Given the description of an element on the screen output the (x, y) to click on. 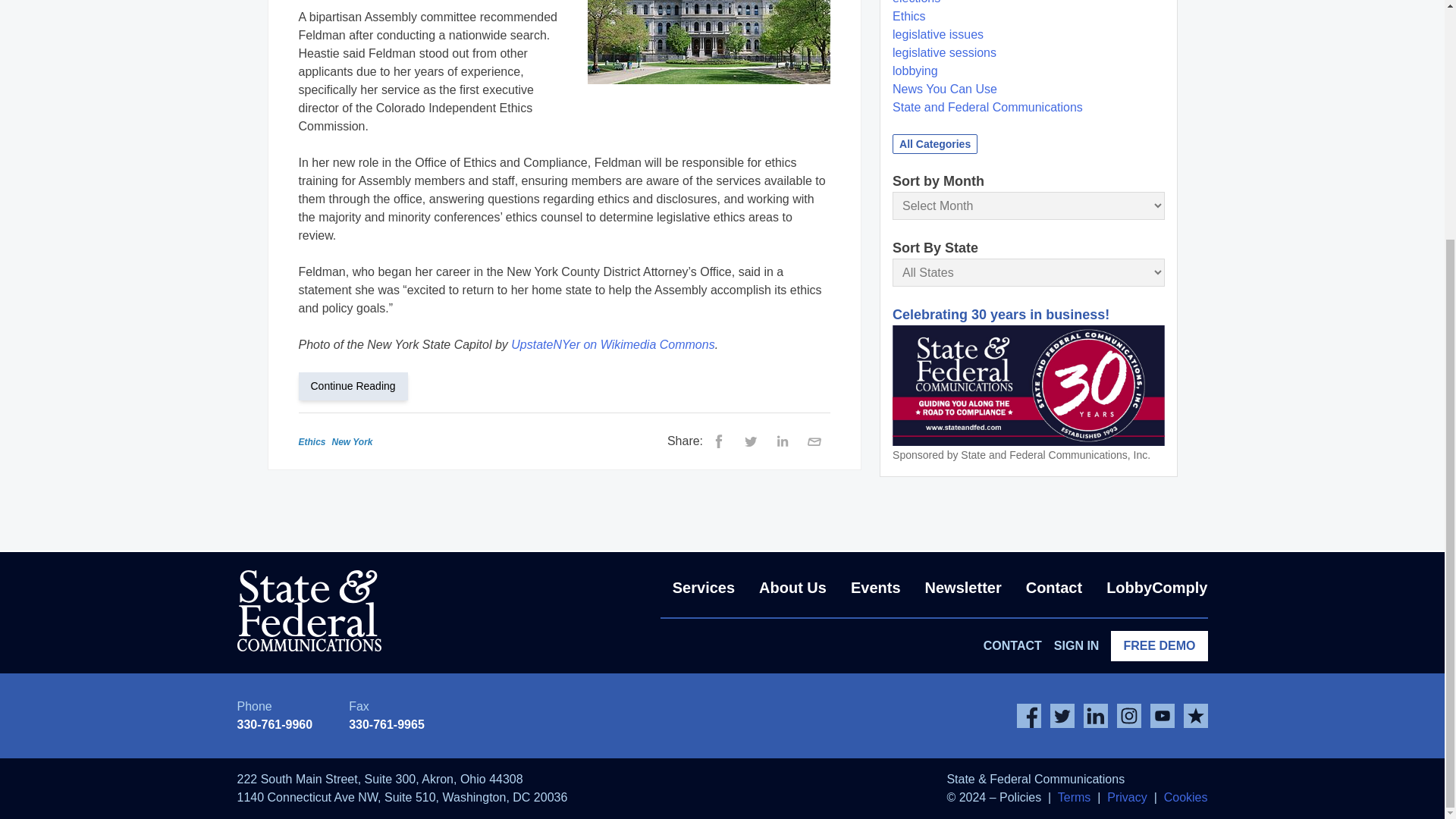
Continue Reading (359, 385)
Ethics (909, 15)
UpstateNYer on Wikimedia Commons (612, 344)
legislative sessions (943, 51)
New York (351, 441)
lobbying (914, 70)
Ethics (312, 441)
legislative issues (938, 33)
elections (916, 2)
